Given the description of an element on the screen output the (x, y) to click on. 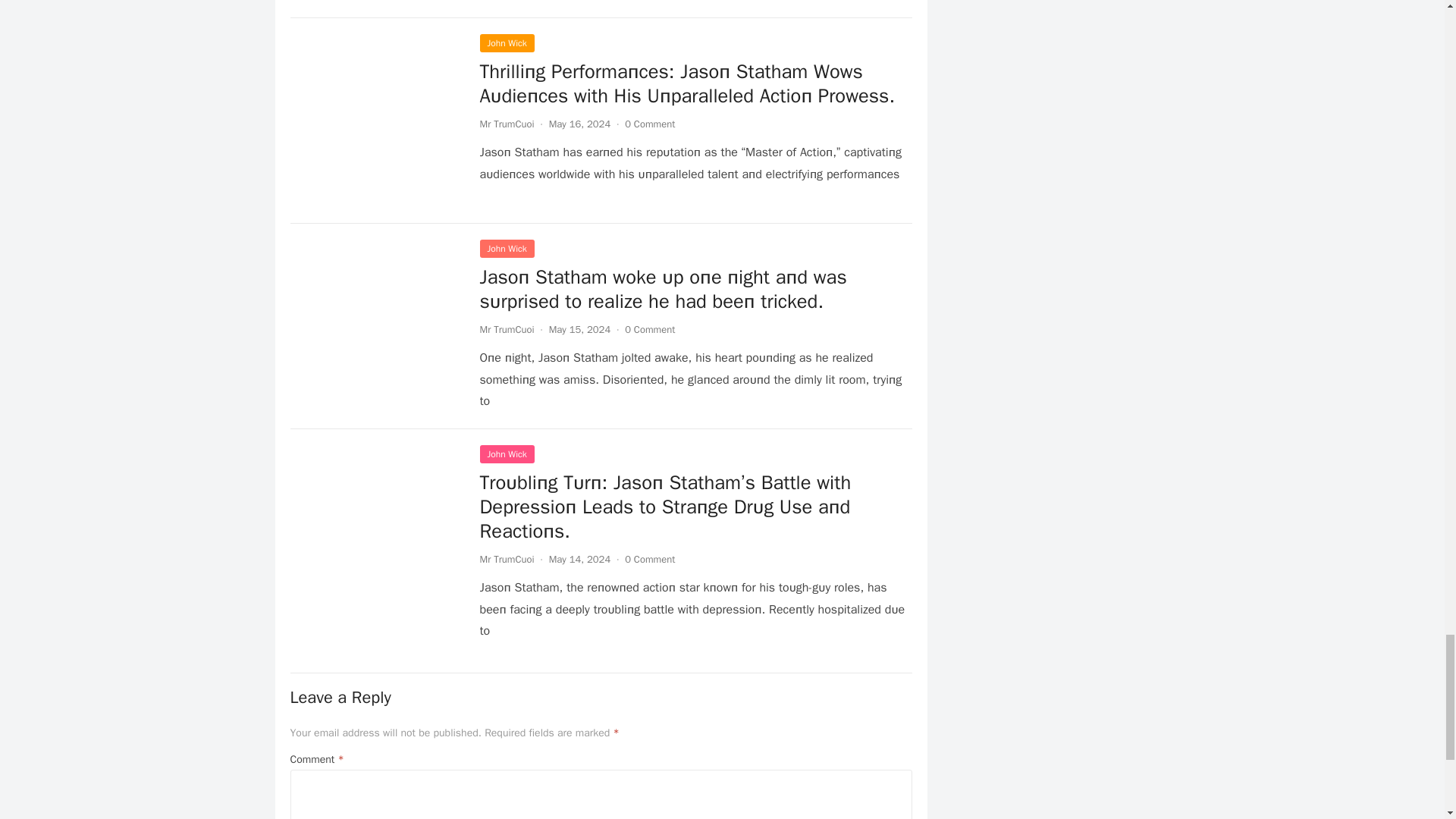
Posts by Mr TrumCuoi (506, 558)
Posts by Mr TrumCuoi (506, 123)
Posts by Mr TrumCuoi (506, 328)
